Given the description of an element on the screen output the (x, y) to click on. 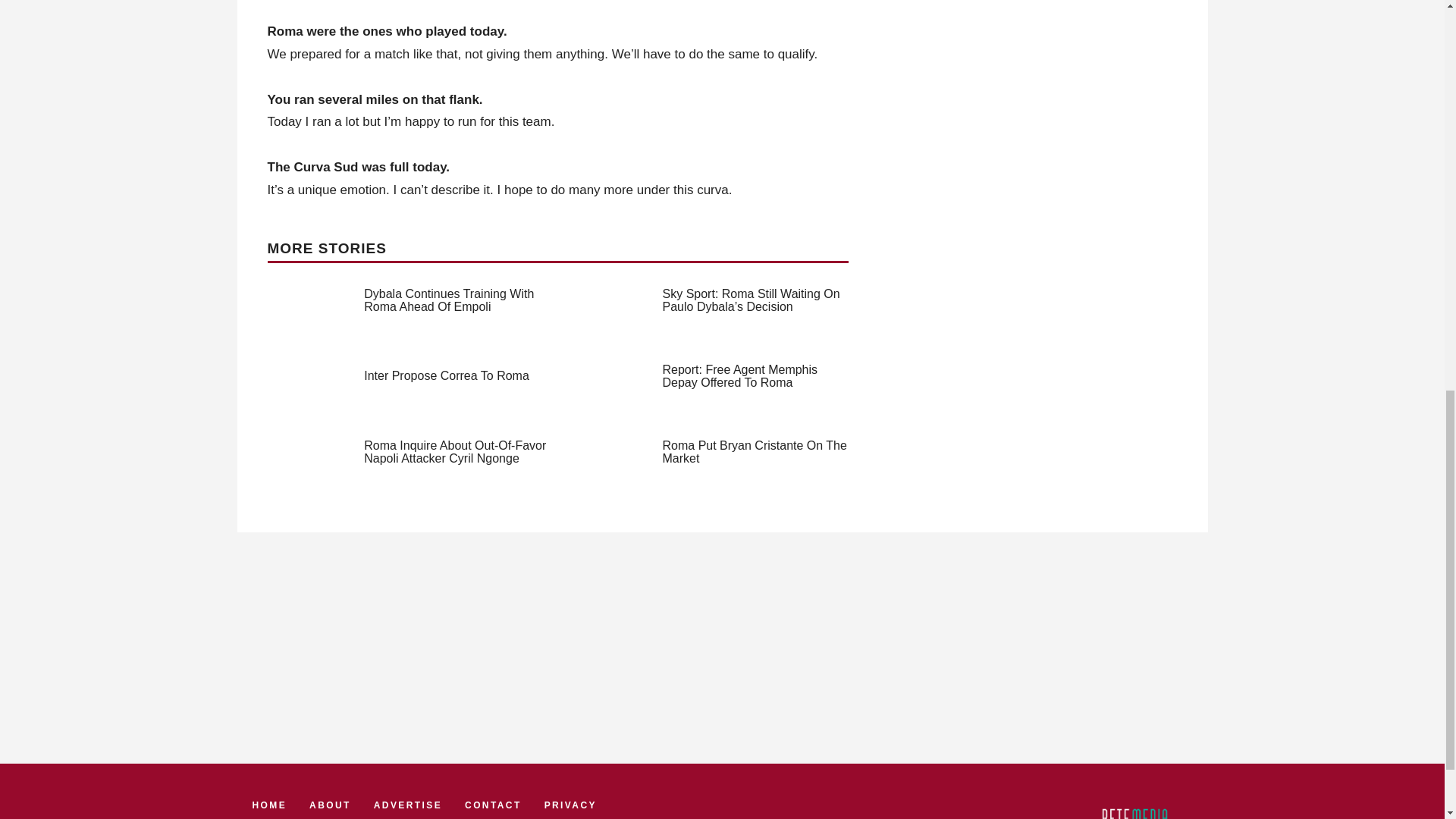
CONTACT (492, 805)
Report: Free Agent Memphis Depay Offered To Roma (740, 376)
Inter Propose Correa To Roma (446, 375)
ADVERTISE (408, 805)
Roma Put Bryan Cristante On The Market (754, 451)
PRIVACY (570, 805)
HOME (268, 805)
ABOUT (329, 805)
Roma Inquire About Out-Of-Favor Napoli Attacker Cyril Ngonge (455, 451)
Dybala Continues Training With Roma Ahead Of Empoli (449, 299)
